Given the description of an element on the screen output the (x, y) to click on. 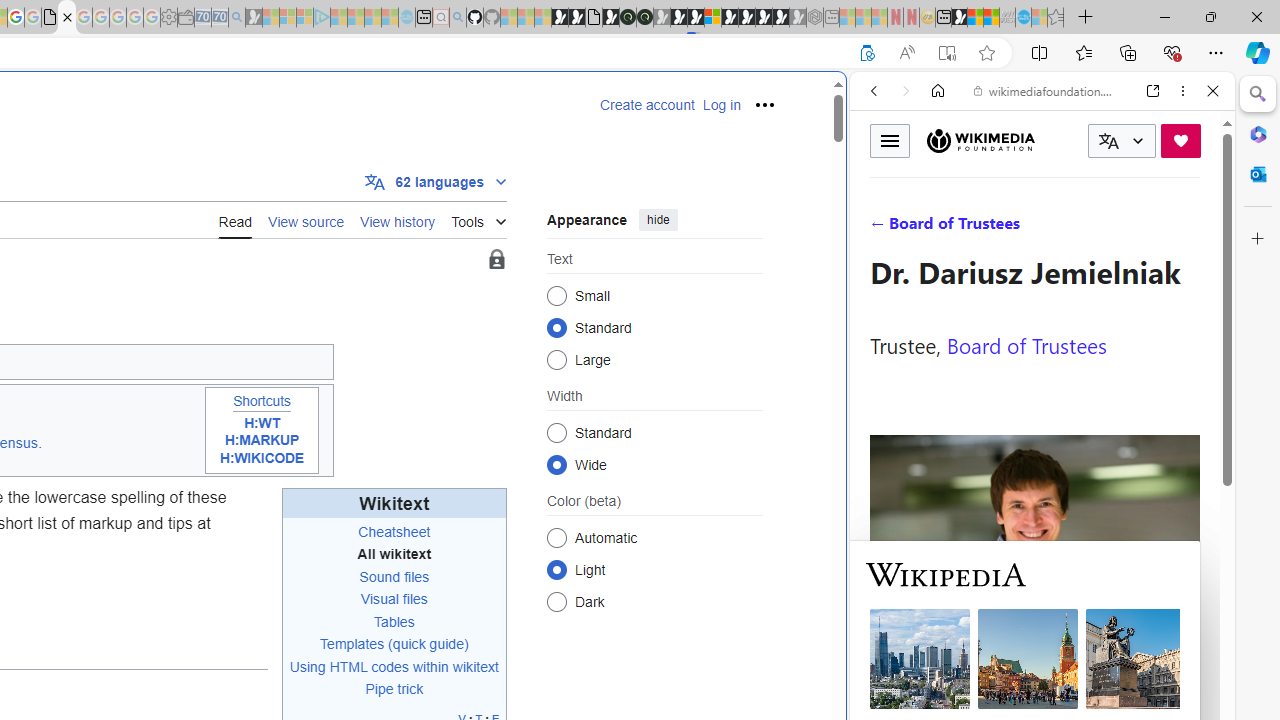
Donate now (1180, 140)
Close split screen (844, 102)
Wiktionary (1034, 669)
Wide (556, 464)
Class: b_serphb (1190, 229)
Visual files (394, 599)
View history (397, 219)
H:WT (262, 422)
Log in (721, 105)
Wikitext (393, 503)
Play Free Online Games | Games from Microsoft Start (746, 17)
